Given the description of an element on the screen output the (x, y) to click on. 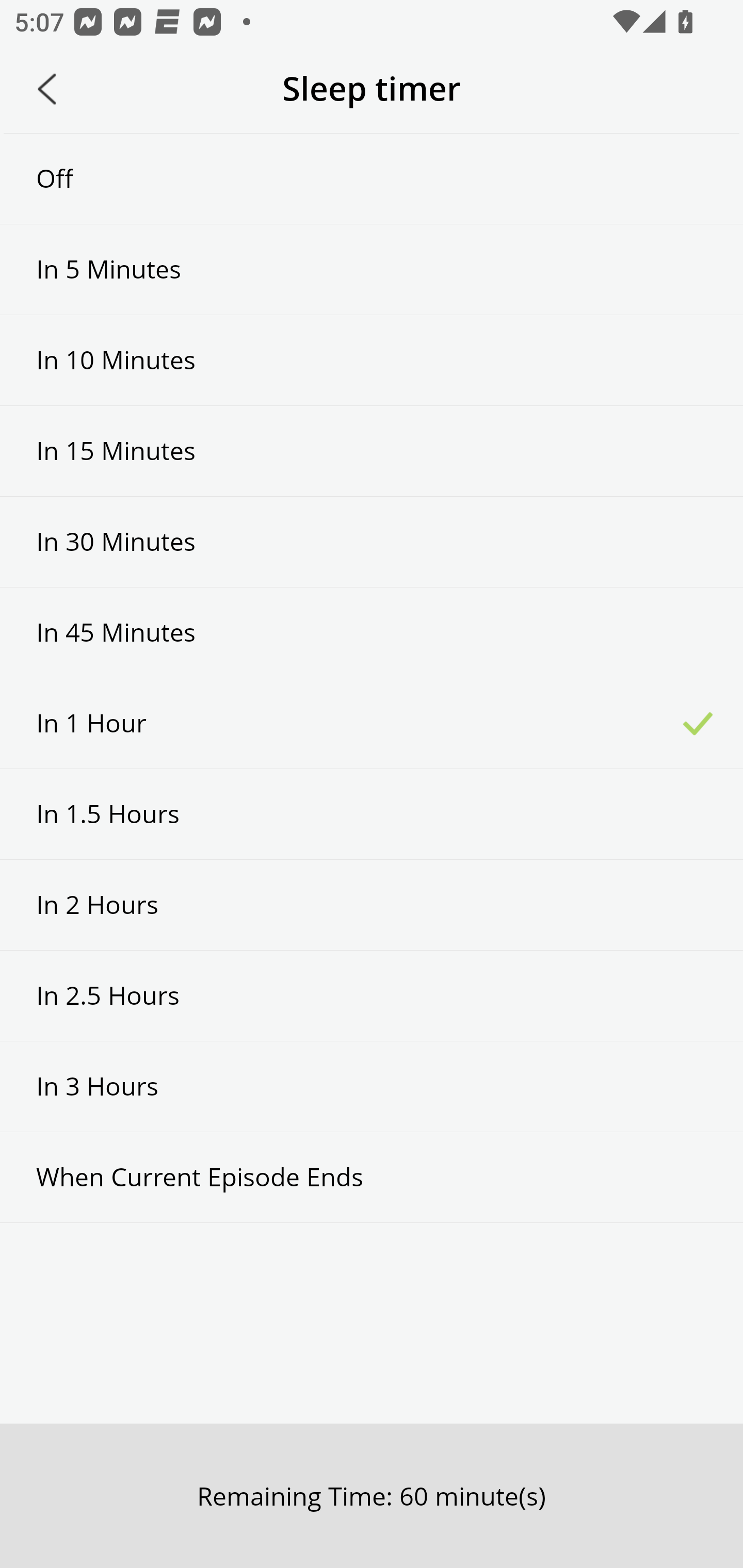
Back (46, 88)
Off (371, 178)
In 5 Minutes (371, 269)
In 10 Minutes (371, 360)
In 15 Minutes (371, 450)
In 30 Minutes (371, 541)
In 45 Minutes (371, 632)
In 1 Hour (371, 723)
In 1.5 Hours (371, 813)
In 2 Hours (371, 904)
In 2.5 Hours (371, 995)
In 3 Hours (371, 1086)
When Current Episode Ends (371, 1177)
